Given the description of an element on the screen output the (x, y) to click on. 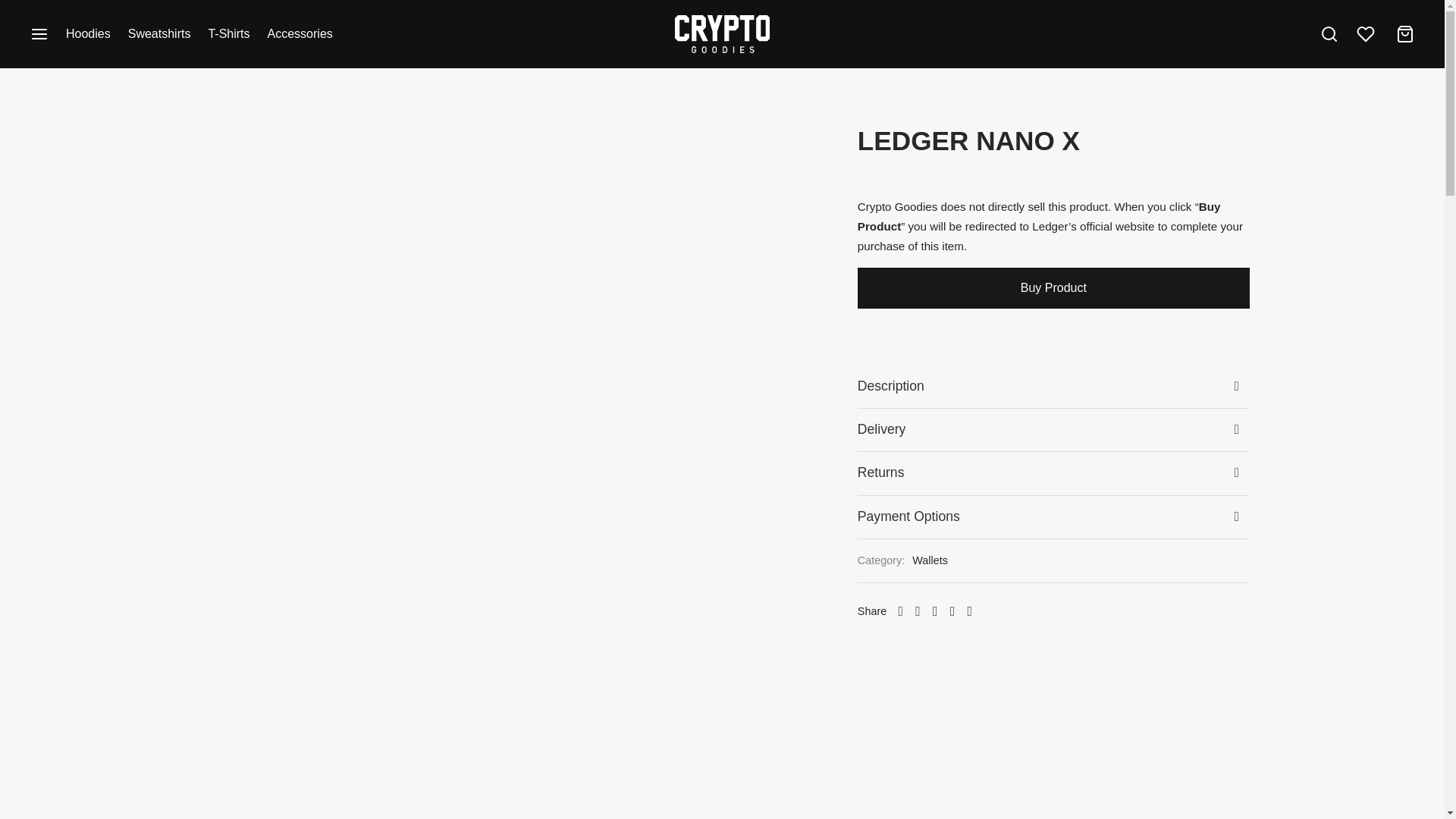
Accessories (300, 34)
T-Shirts (228, 34)
Wallets (929, 560)
Payment Options (1053, 516)
Delivery (1053, 429)
Buy Product (1053, 287)
Hoodies (87, 34)
Description (1053, 386)
Cart (1404, 34)
Sweatshirts (159, 34)
